Given the description of an element on the screen output the (x, y) to click on. 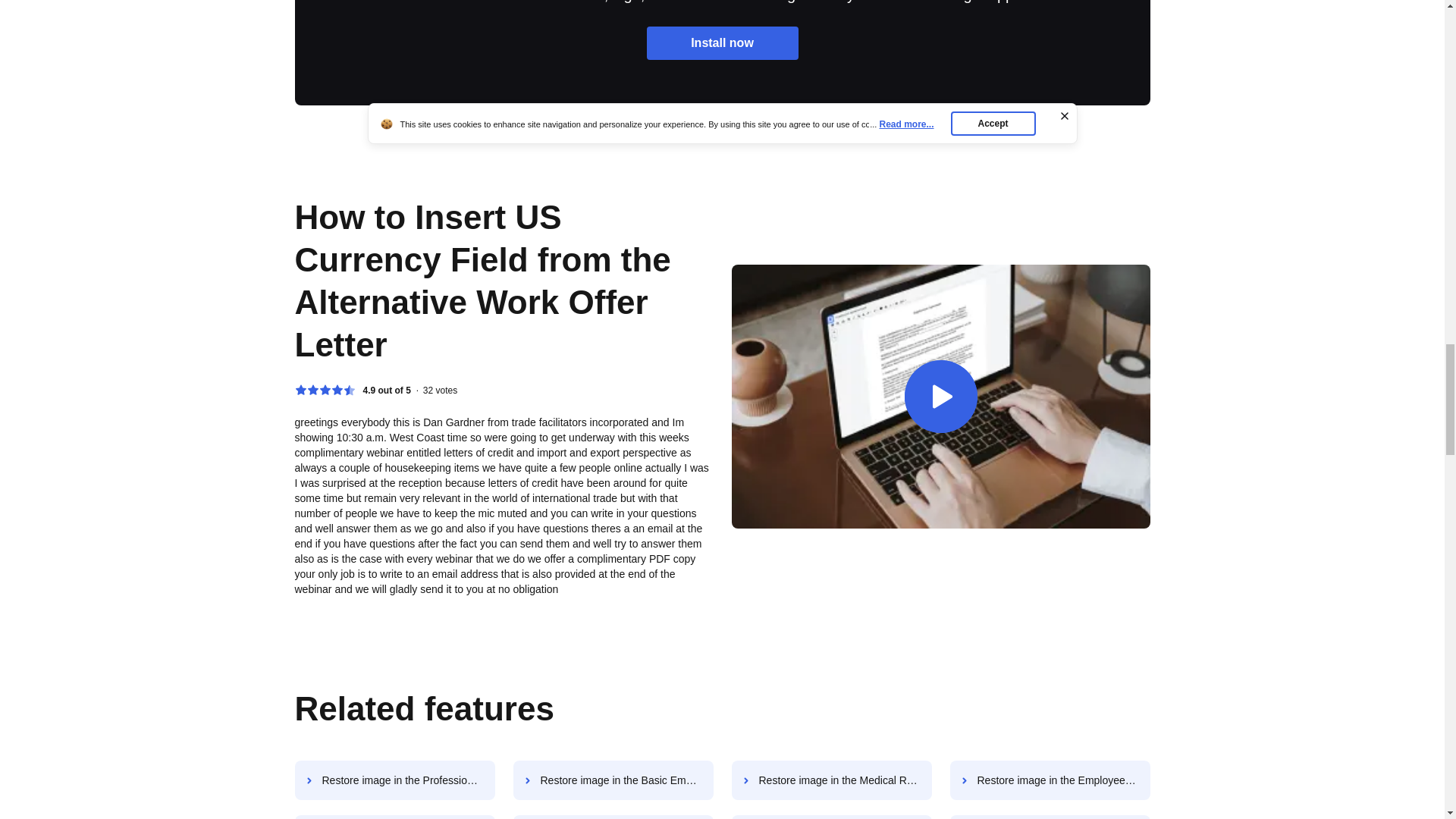
Install now (721, 42)
Restore image in the Employee Termination Checklist (830, 816)
Restore image in the Professional Resume (394, 780)
Restore image in the Candidate Resume (394, 816)
Restore image in the Functional Application (612, 816)
Restore image in the Basic Employment Application (612, 780)
Restore image in the Medical Return to Work Form (830, 780)
Restore image in the Simple Resume (1049, 816)
Restore image in the Employee Resume (1049, 780)
